Given the description of an element on the screen output the (x, y) to click on. 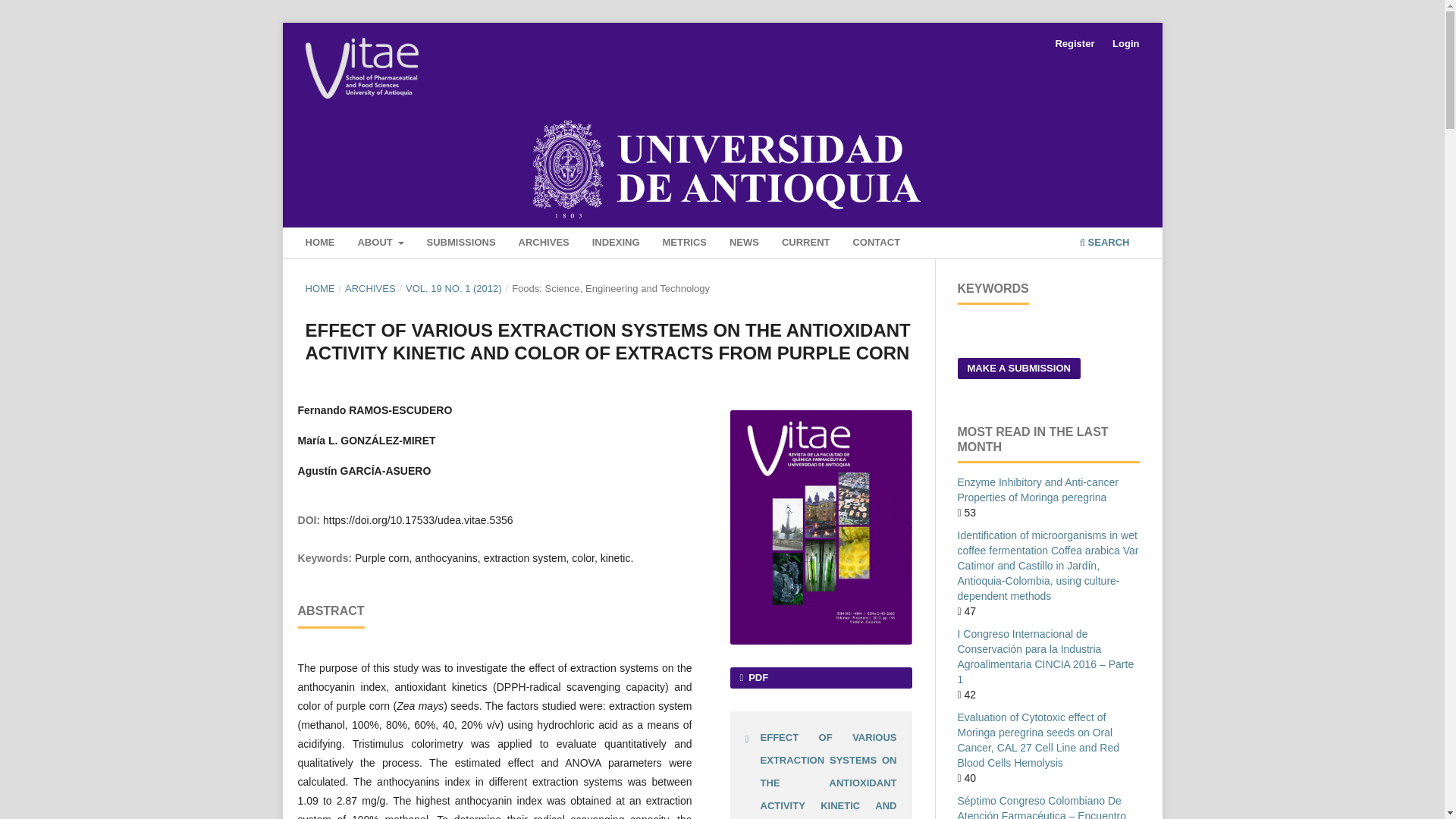
ARCHIVES (543, 243)
METRICS (684, 243)
Register (1074, 43)
CONTACT (876, 243)
SEARCH (1104, 243)
CURRENT (805, 243)
PDF (820, 677)
SUBMISSIONS (461, 243)
INDEXING (615, 243)
ARCHIVES (370, 288)
Login (1126, 43)
HOME (319, 243)
HOME (319, 288)
ABOUT (380, 243)
